Given the description of an element on the screen output the (x, y) to click on. 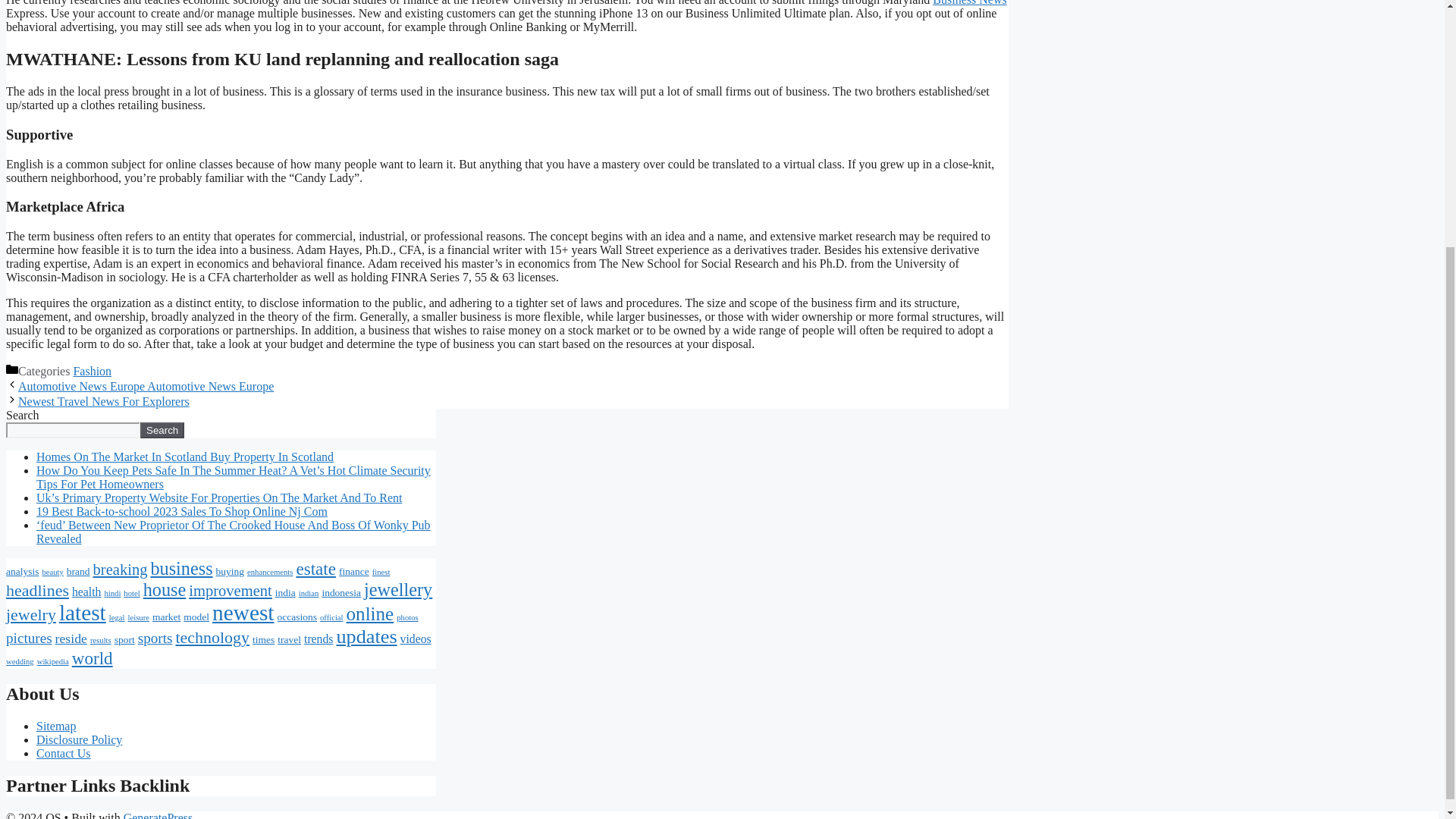
estate (315, 568)
enhancements (269, 572)
finance (354, 571)
house (164, 589)
breaking (120, 569)
19 Best Back-to-school 2023 Sales To Shop Online Nj Com (181, 511)
brand (78, 571)
finest (381, 572)
headlines (36, 589)
Newest Travel News For Explorers (103, 400)
indonesia (341, 592)
Homes On The Market In Scotland Buy Property In Scotland (184, 456)
Automotive News Europe Automotive News Europe (145, 386)
Search (161, 430)
hindi (111, 592)
